Given the description of an element on the screen output the (x, y) to click on. 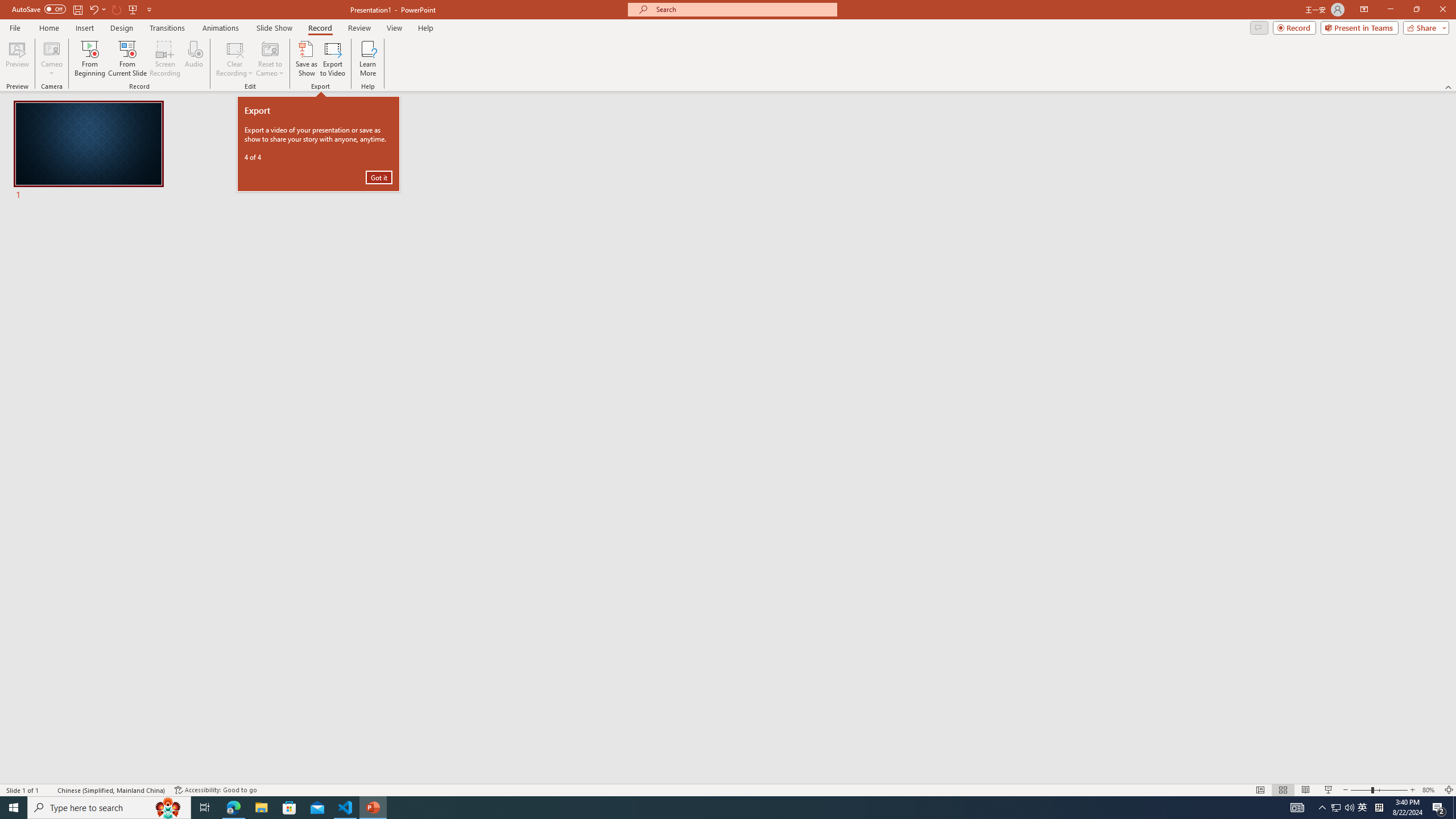
Insert (83, 28)
Microsoft search (742, 9)
Tray Input Indicator - Chinese (Simplified, China) (1378, 807)
Zoom In (1412, 790)
Q2790: 100% (1349, 807)
Zoom (1379, 790)
Learn More (368, 58)
AutomationID: 4105 (1297, 807)
Slide Sorter (1282, 790)
Search highlights icon opens search home window (167, 807)
Reading View (1305, 790)
Comments (1259, 27)
Preview (17, 58)
Record (1294, 27)
More Options (51, 68)
